Given the description of an element on the screen output the (x, y) to click on. 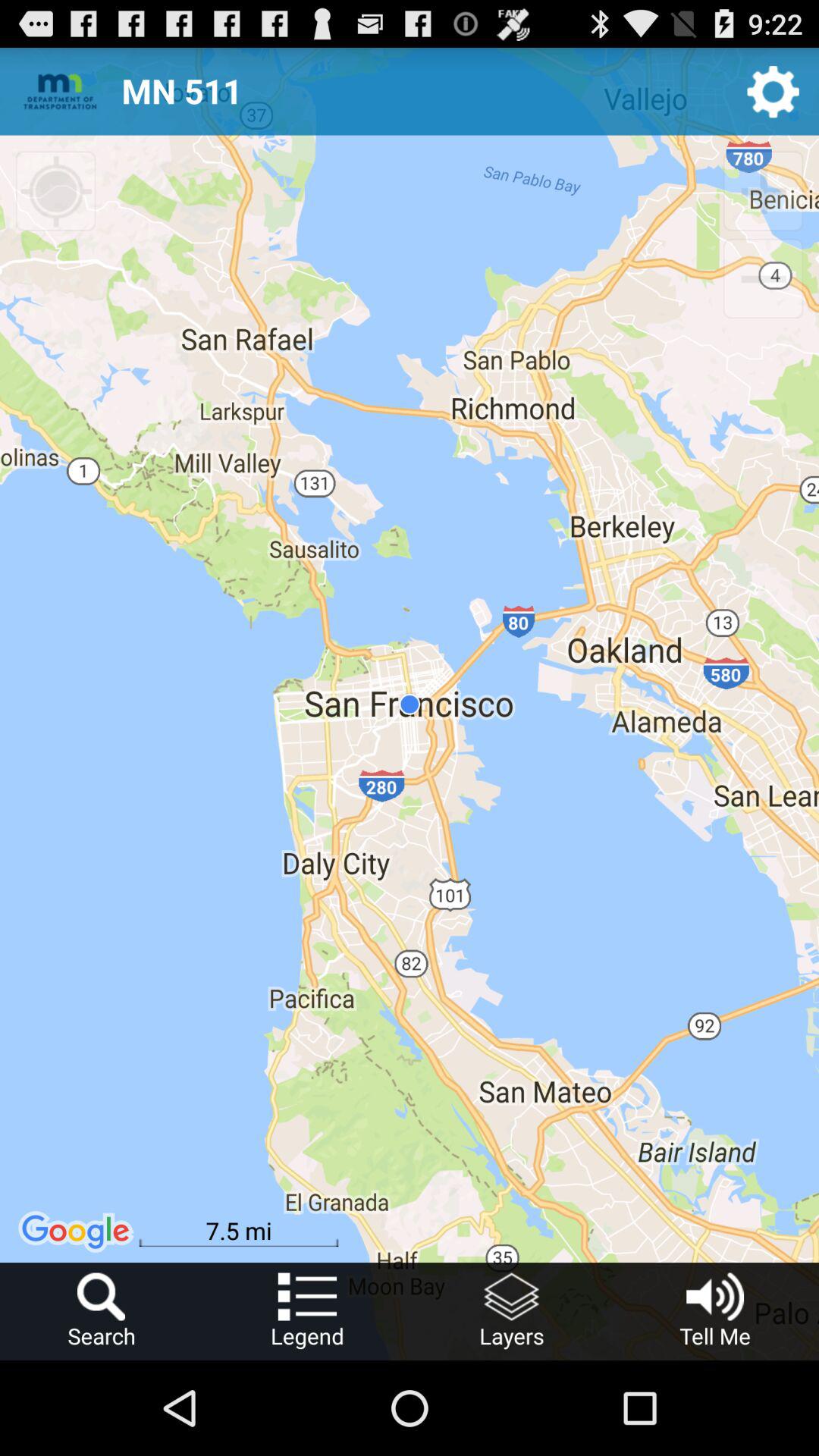
open settings (773, 91)
